Given the description of an element on the screen output the (x, y) to click on. 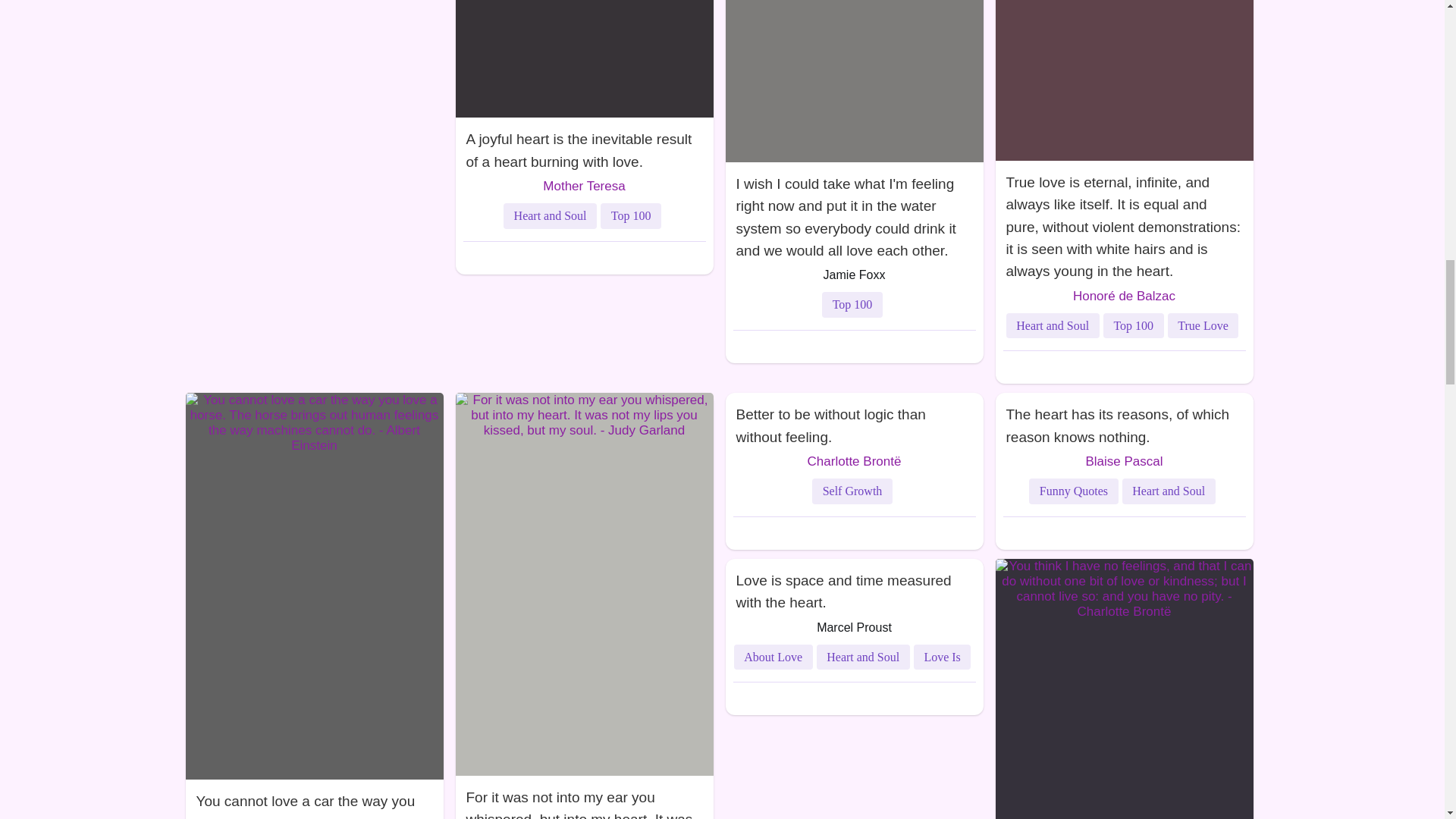
see quote (1123, 223)
see quote (583, 797)
see quote (583, 146)
see quote (313, 799)
see quote (853, 214)
